Given the description of an element on the screen output the (x, y) to click on. 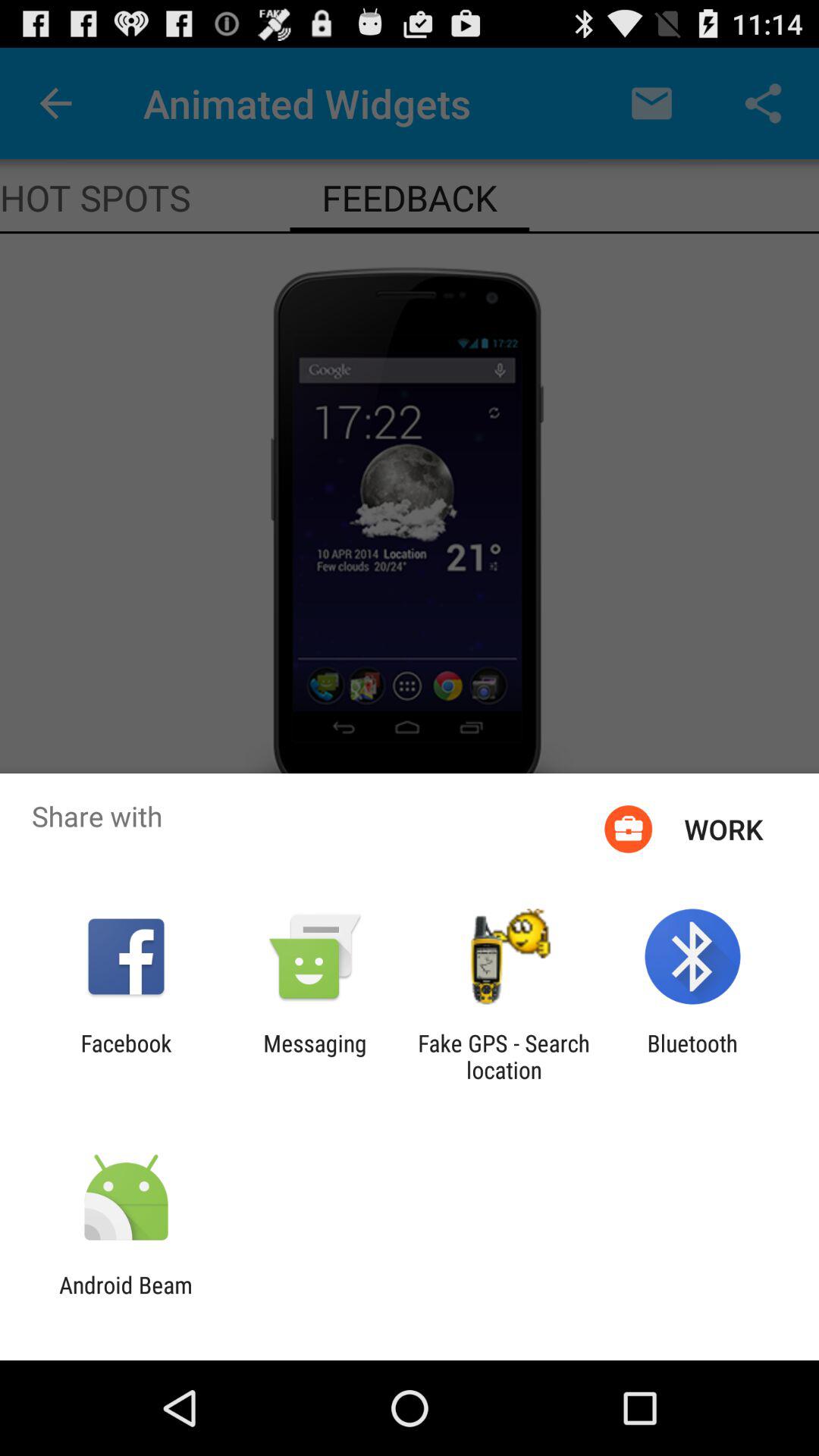
turn off the icon to the left of fake gps search item (314, 1056)
